Given the description of an element on the screen output the (x, y) to click on. 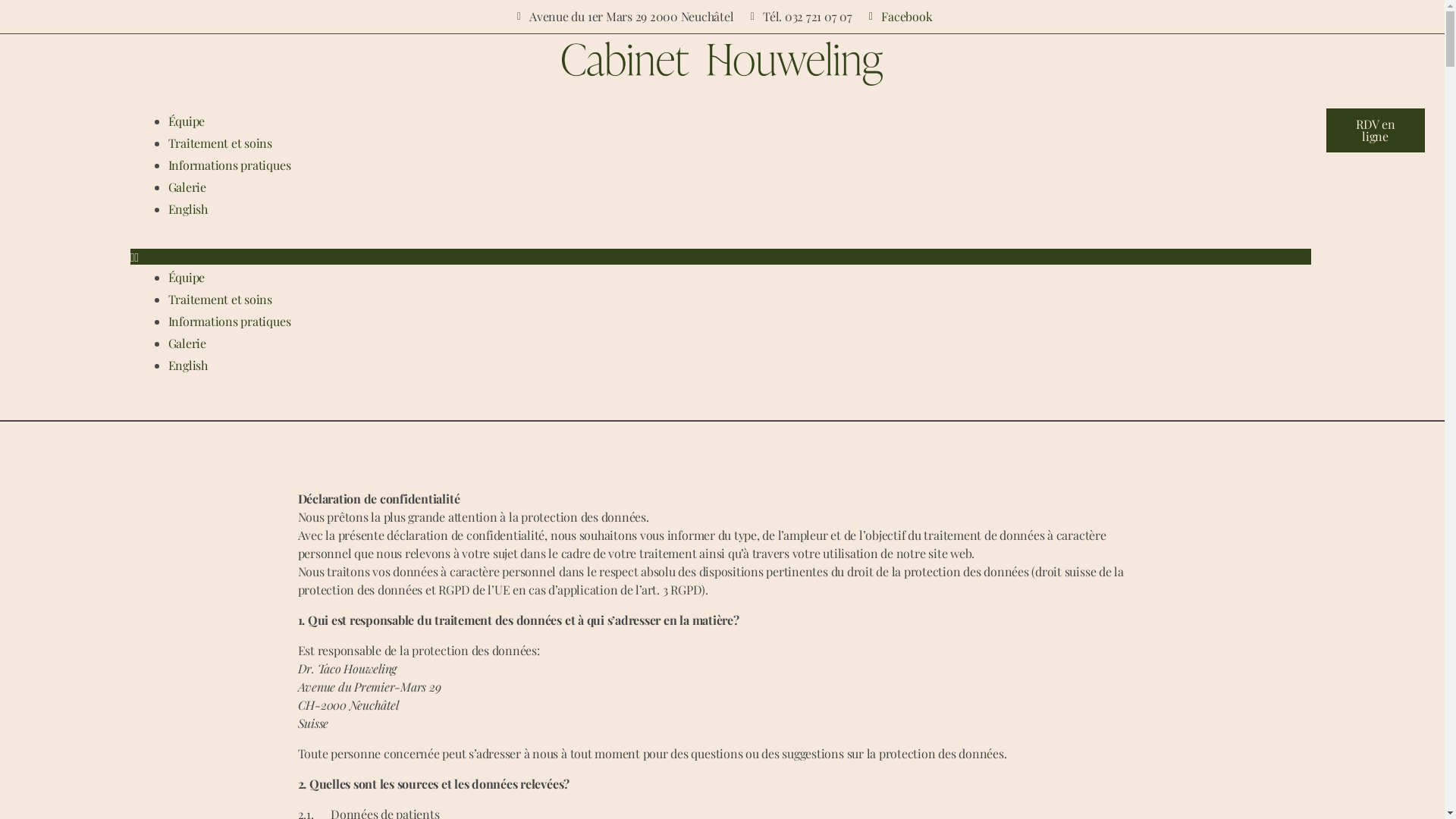
Galerie Element type: text (187, 343)
RDV en ligne Element type: text (1375, 130)
English Element type: text (187, 365)
Informations pratiques Element type: text (229, 164)
Traitement et soins Element type: text (220, 142)
English Element type: text (187, 208)
Galerie Element type: text (187, 186)
Informations pratiques Element type: text (229, 321)
Traitement et soins Element type: text (220, 299)
Facebook Element type: text (898, 16)
